Given the description of an element on the screen output the (x, y) to click on. 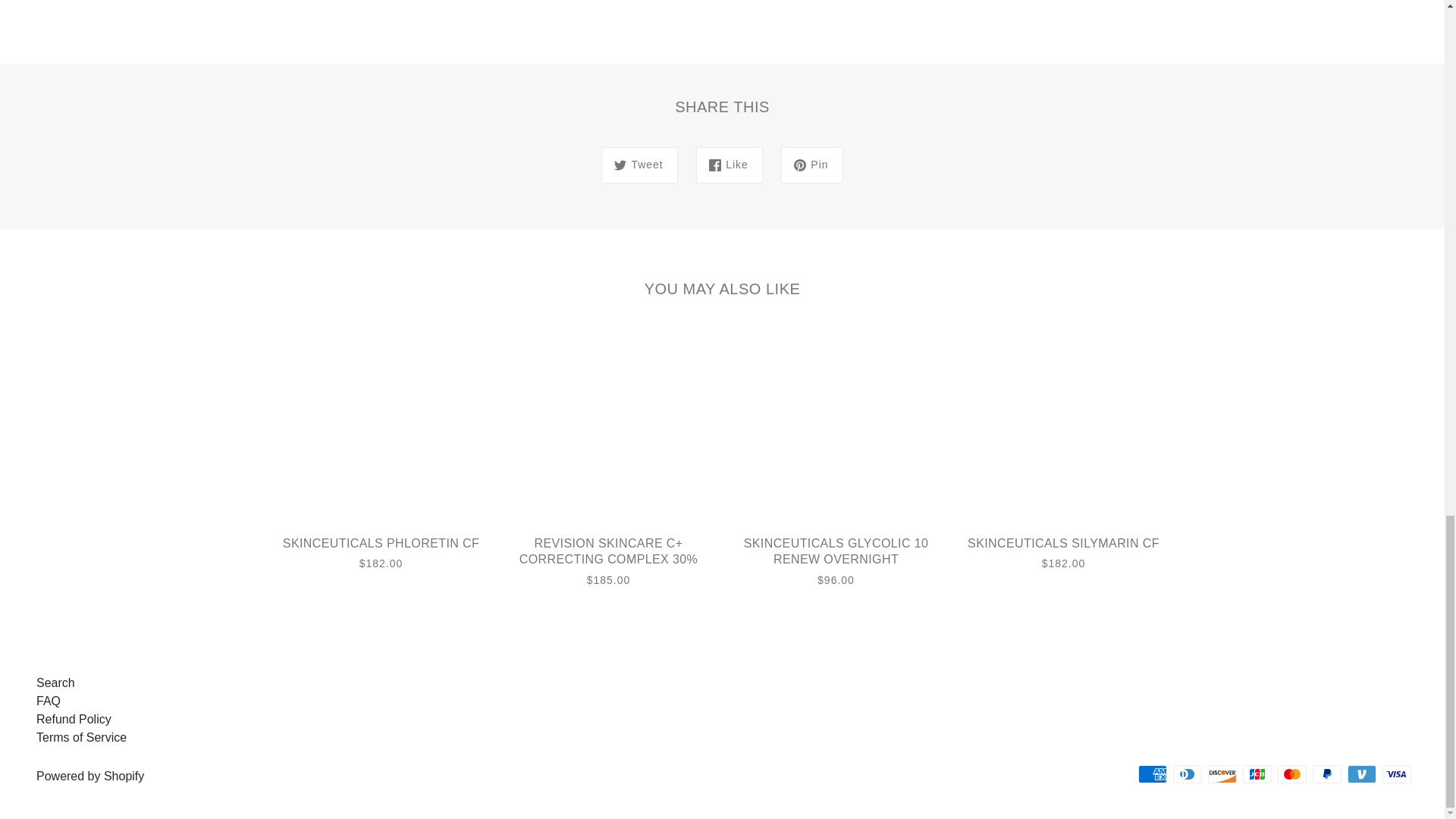
PayPal (1326, 773)
Discover (1222, 773)
American Express (1152, 773)
Terms of Service (81, 737)
Diners Club (1187, 773)
Venmo (1361, 773)
JCB (1257, 773)
Mastercard (1292, 773)
Refund Policy (74, 718)
FAQ (48, 700)
